Given the description of an element on the screen output the (x, y) to click on. 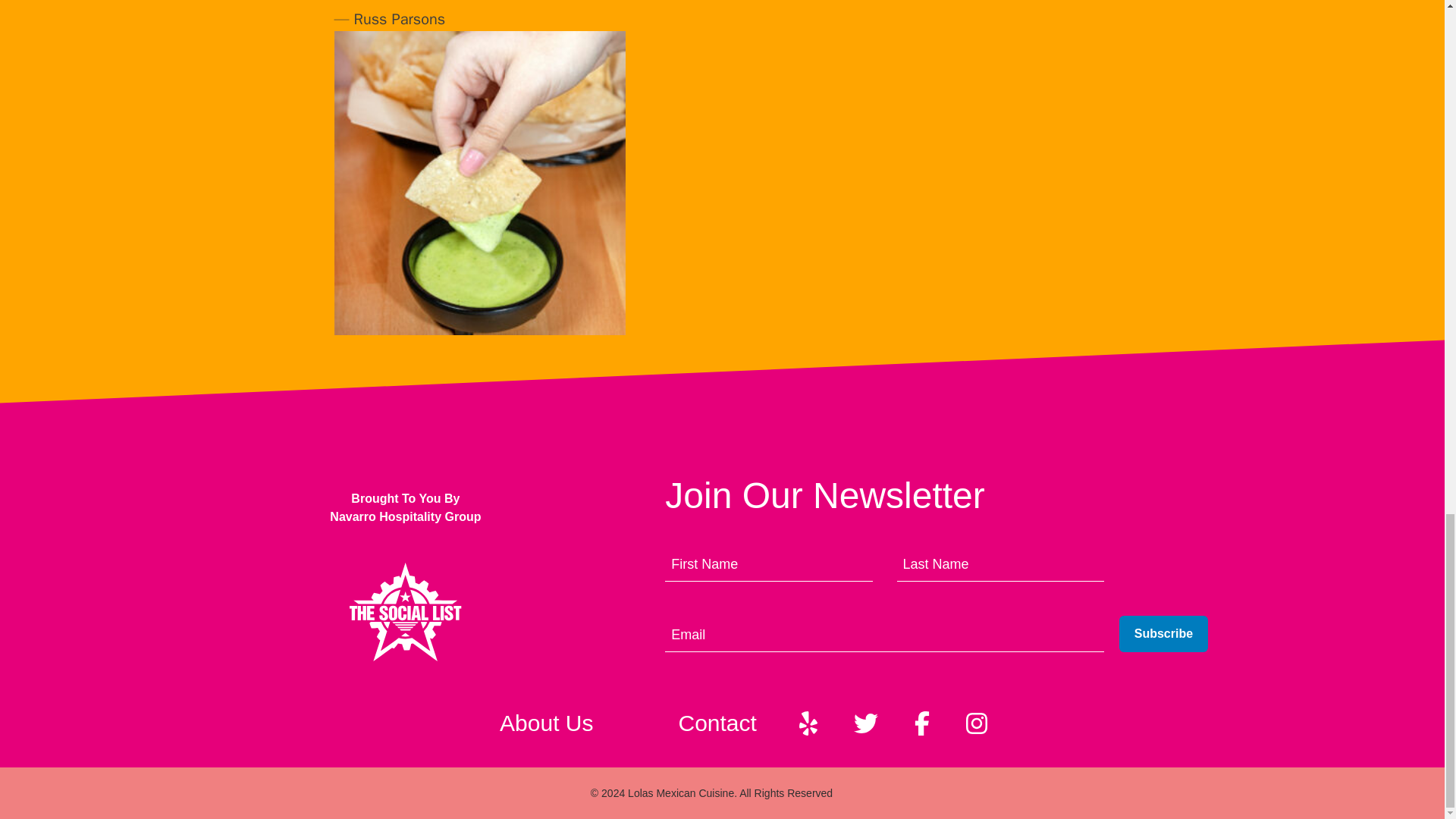
Subscribe (1163, 633)
About Us (545, 723)
Contact (715, 723)
